Given the description of an element on the screen output the (x, y) to click on. 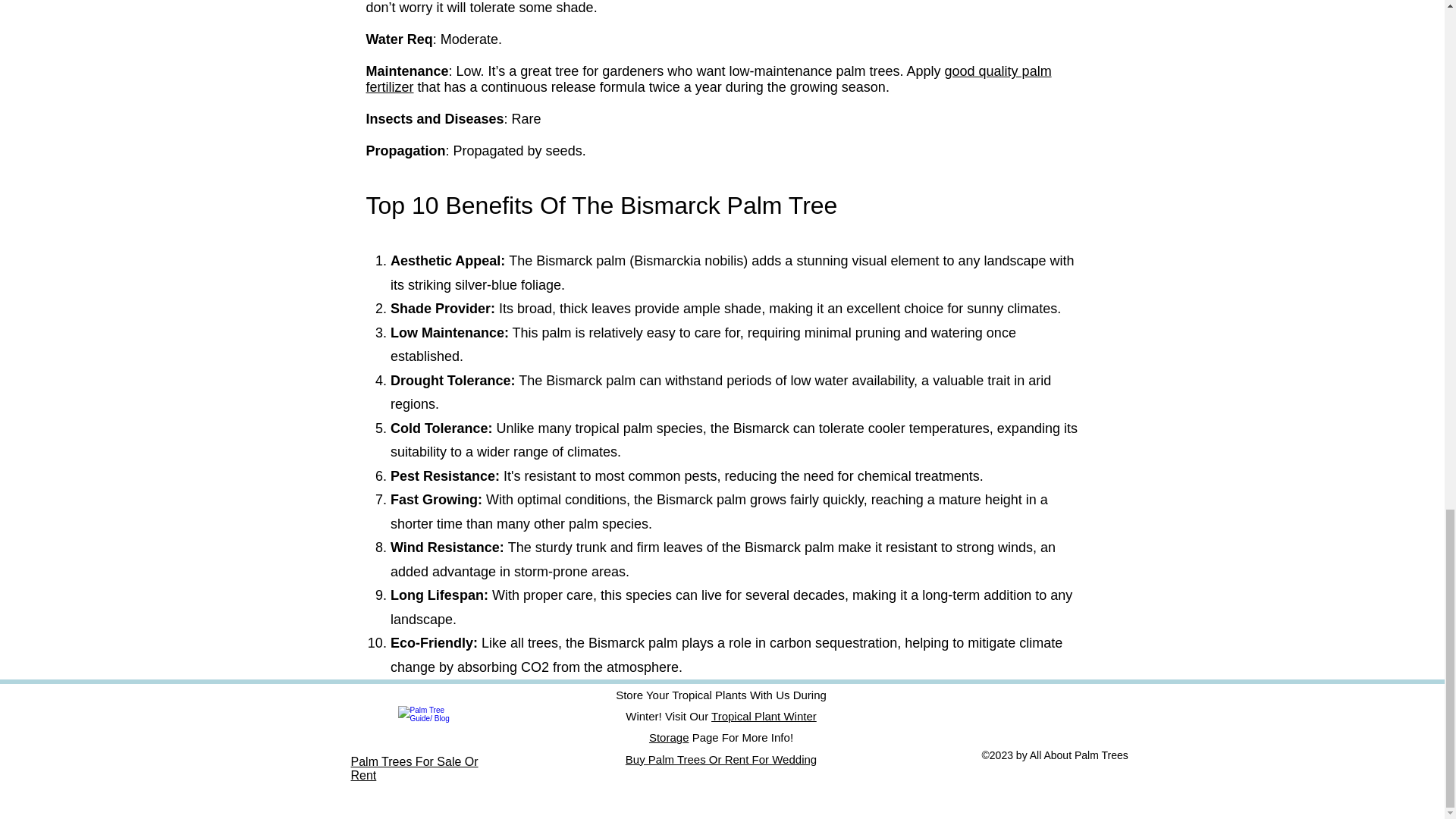
Buy Palm Trees Or Rent For Wedding (721, 758)
good quality palm fertilizer (708, 79)
Tropical Plant Winter Storage (732, 726)
Palm Trees For Sale Or Rent (413, 768)
